Given the description of an element on the screen output the (x, y) to click on. 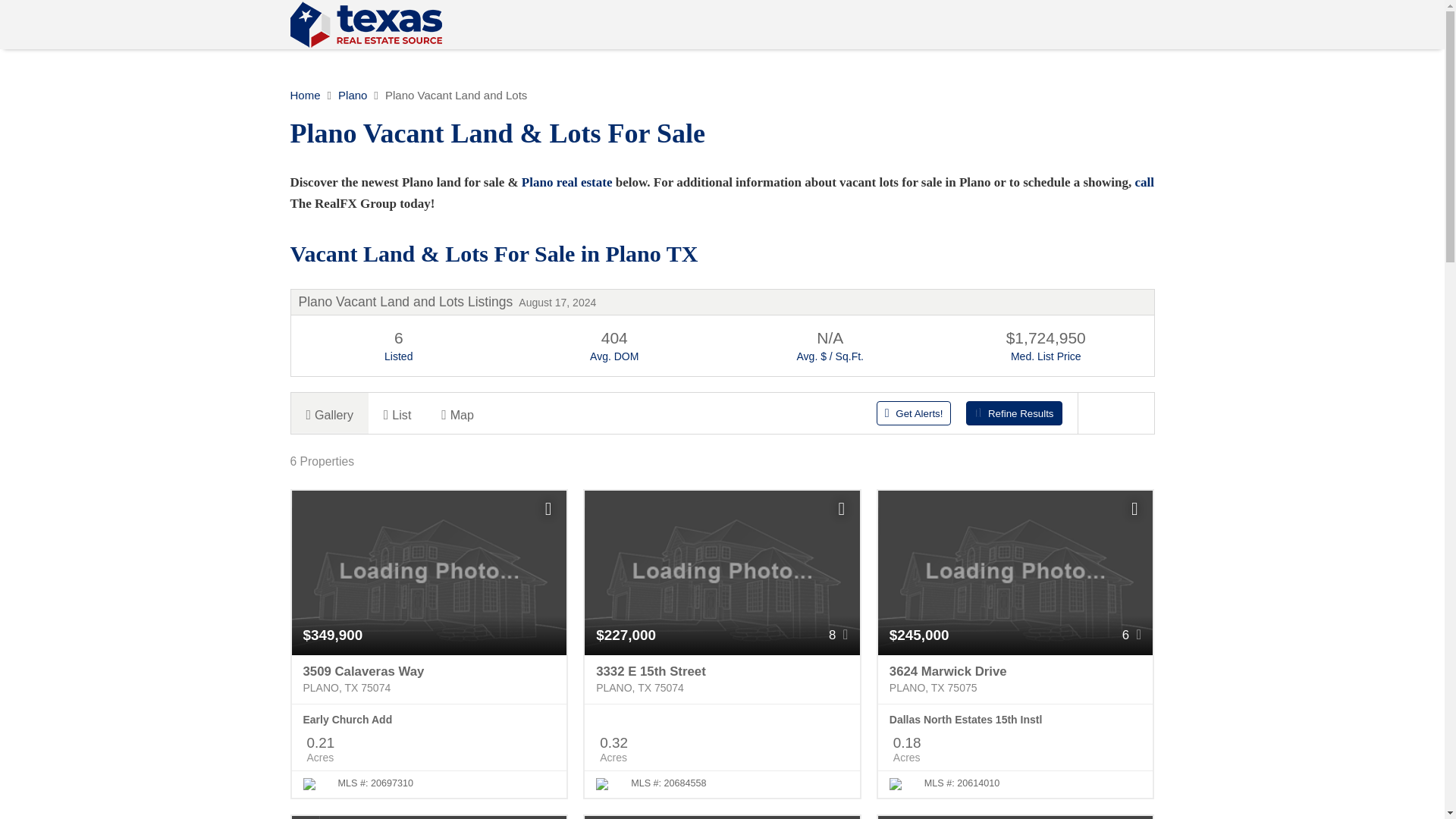
3624 Marwick Drive Plano,  TX 75075 (1015, 679)
3332 E 15th Street Plano,  TX 75074 (722, 679)
3509 Calaveras Way Plano,  TX 75074 (428, 679)
